Given the description of an element on the screen output the (x, y) to click on. 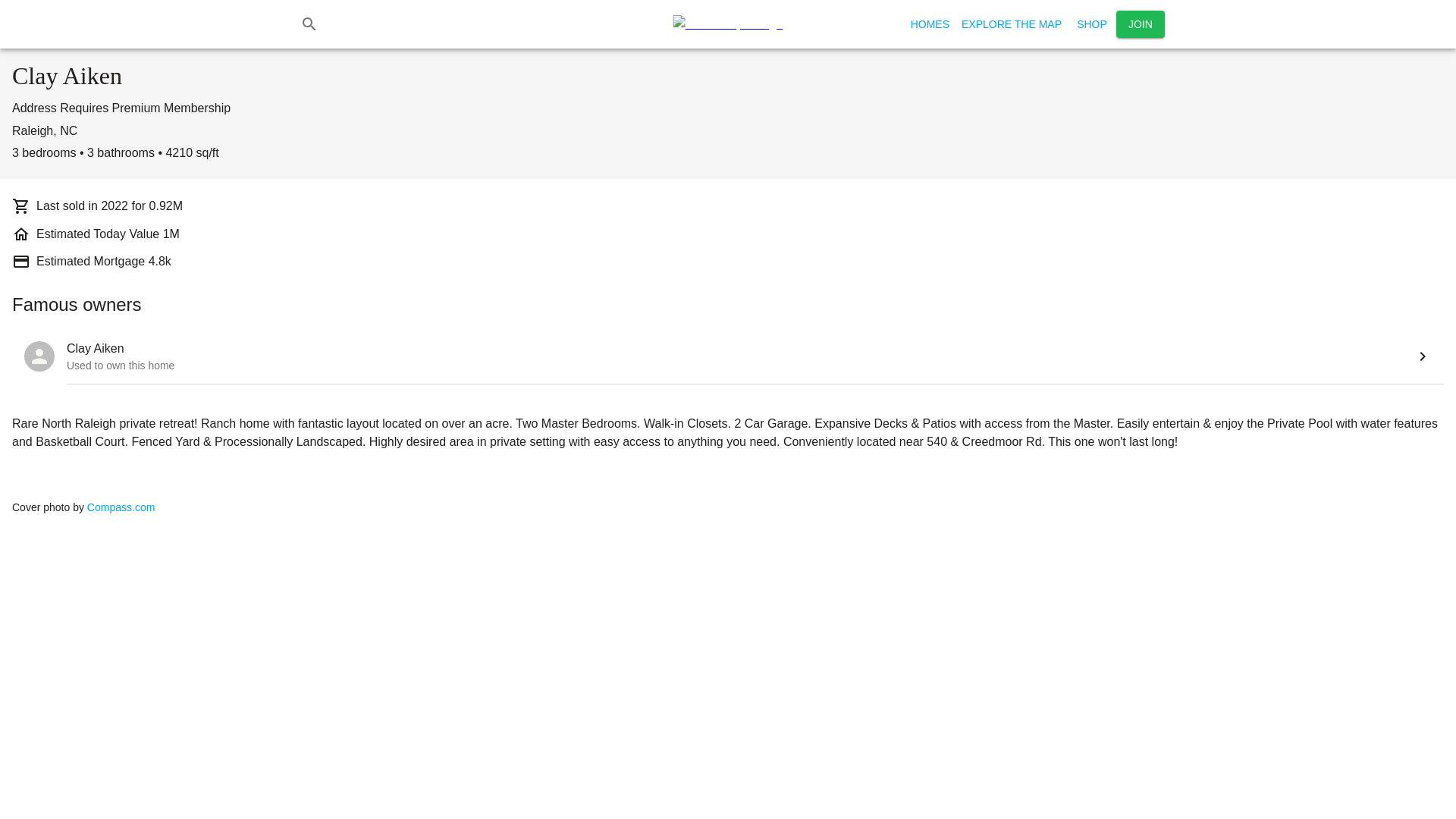
SHOP (1091, 24)
HOMES (929, 24)
EXPLORE THE MAP (1011, 24)
Compass.com (120, 507)
JOIN (1140, 24)
